Given the description of an element on the screen output the (x, y) to click on. 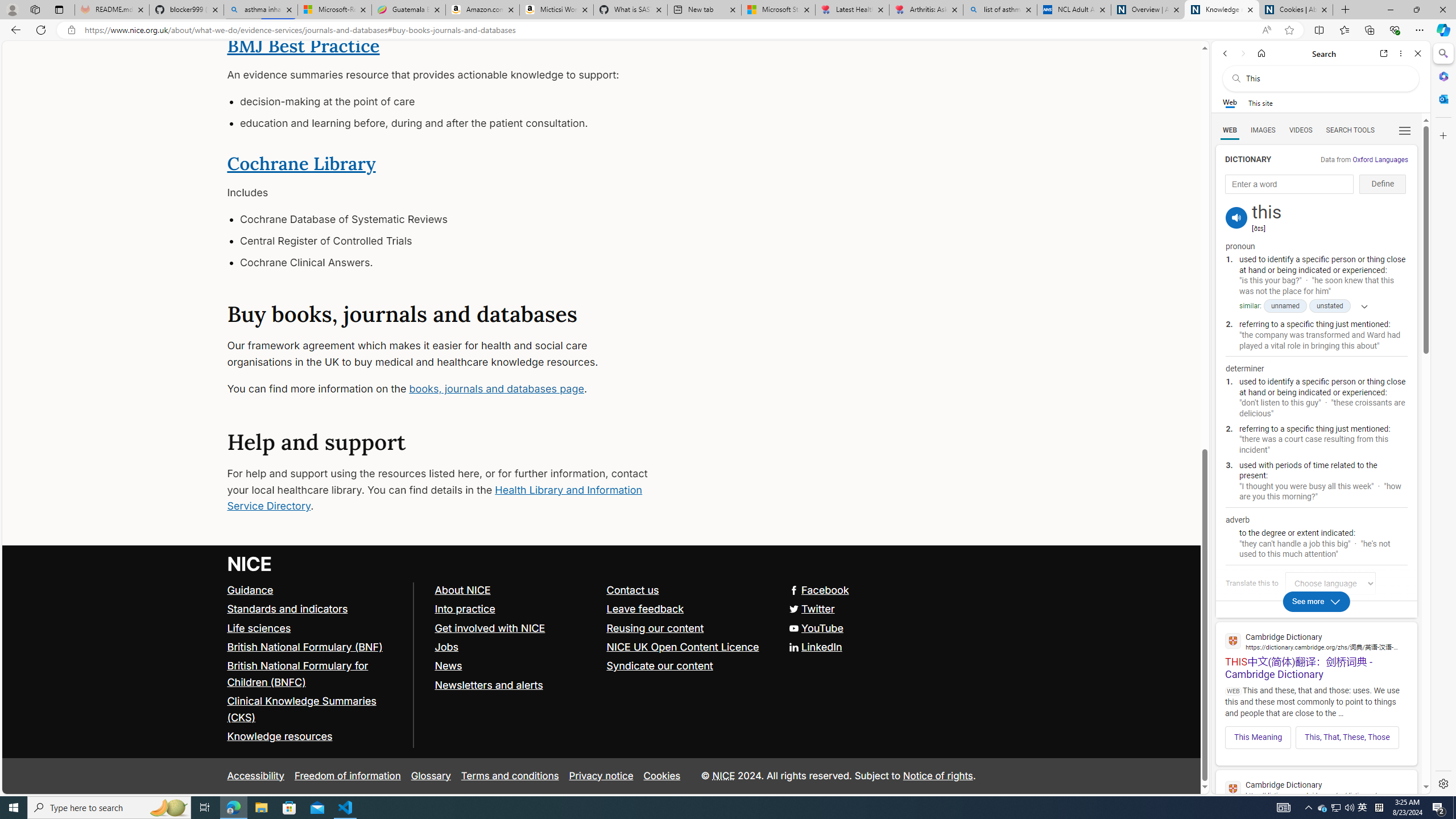
Contact us (632, 589)
News (448, 666)
Search the web (1326, 78)
Cookies (662, 775)
Central Register of Controlled Trials (446, 240)
WEB   (1230, 130)
Knowledge resources (280, 736)
Privacy notice (601, 775)
LinkedIn (815, 647)
asthma inhaler - Search (260, 9)
Cookies | About | NICE (1295, 9)
Reusing our content (686, 628)
